Given the description of an element on the screen output the (x, y) to click on. 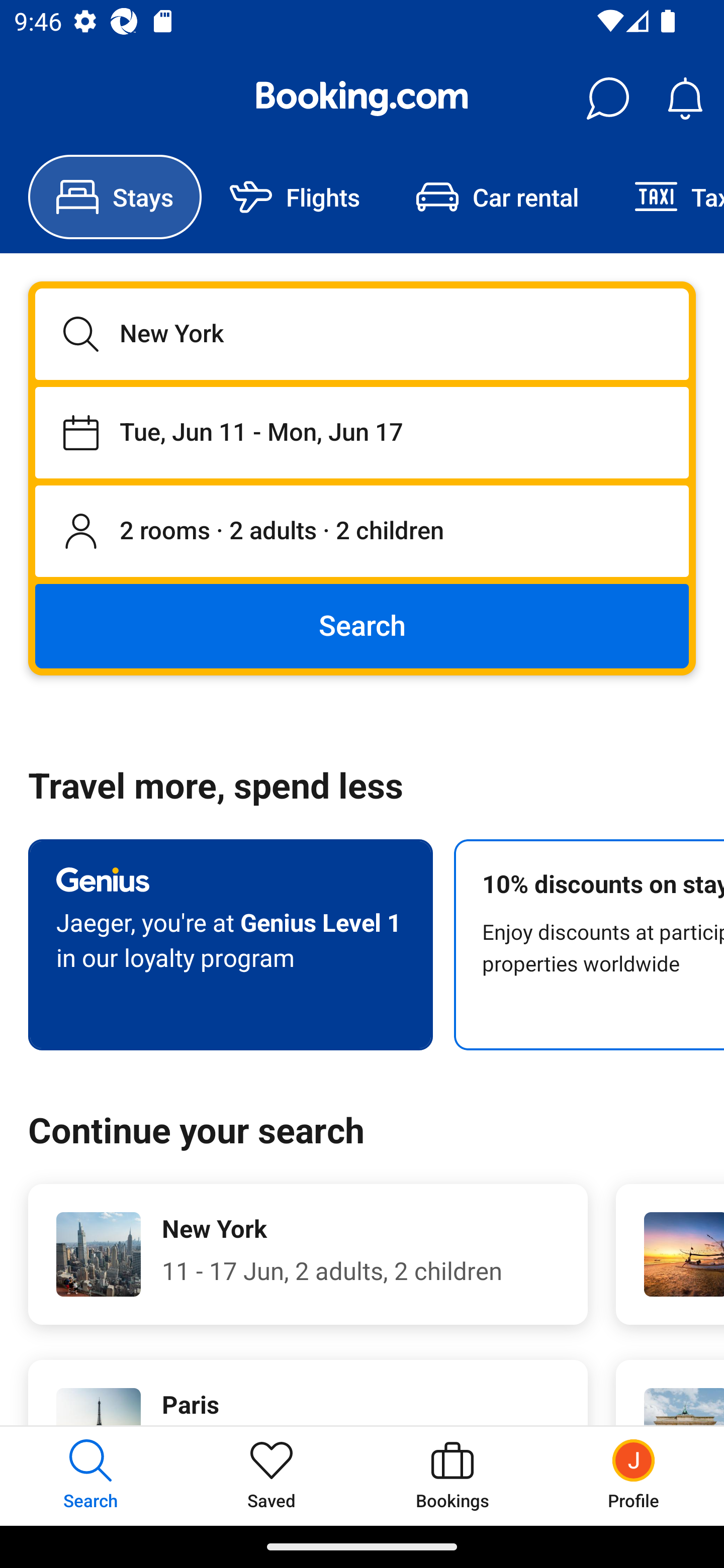
Messages (607, 98)
Notifications (685, 98)
Stays (114, 197)
Flights (294, 197)
Car rental (497, 197)
Taxi (665, 197)
New York (361, 333)
Staying from Tue, Jun 11 until Mon, Jun 17 (361, 432)
2 rooms, 2 adults, 2 children (361, 531)
Search (361, 625)
New York 11 - 17 Jun, 2 adults, 2 children (307, 1253)
Saved (271, 1475)
Bookings (452, 1475)
Profile (633, 1475)
